Given the description of an element on the screen output the (x, y) to click on. 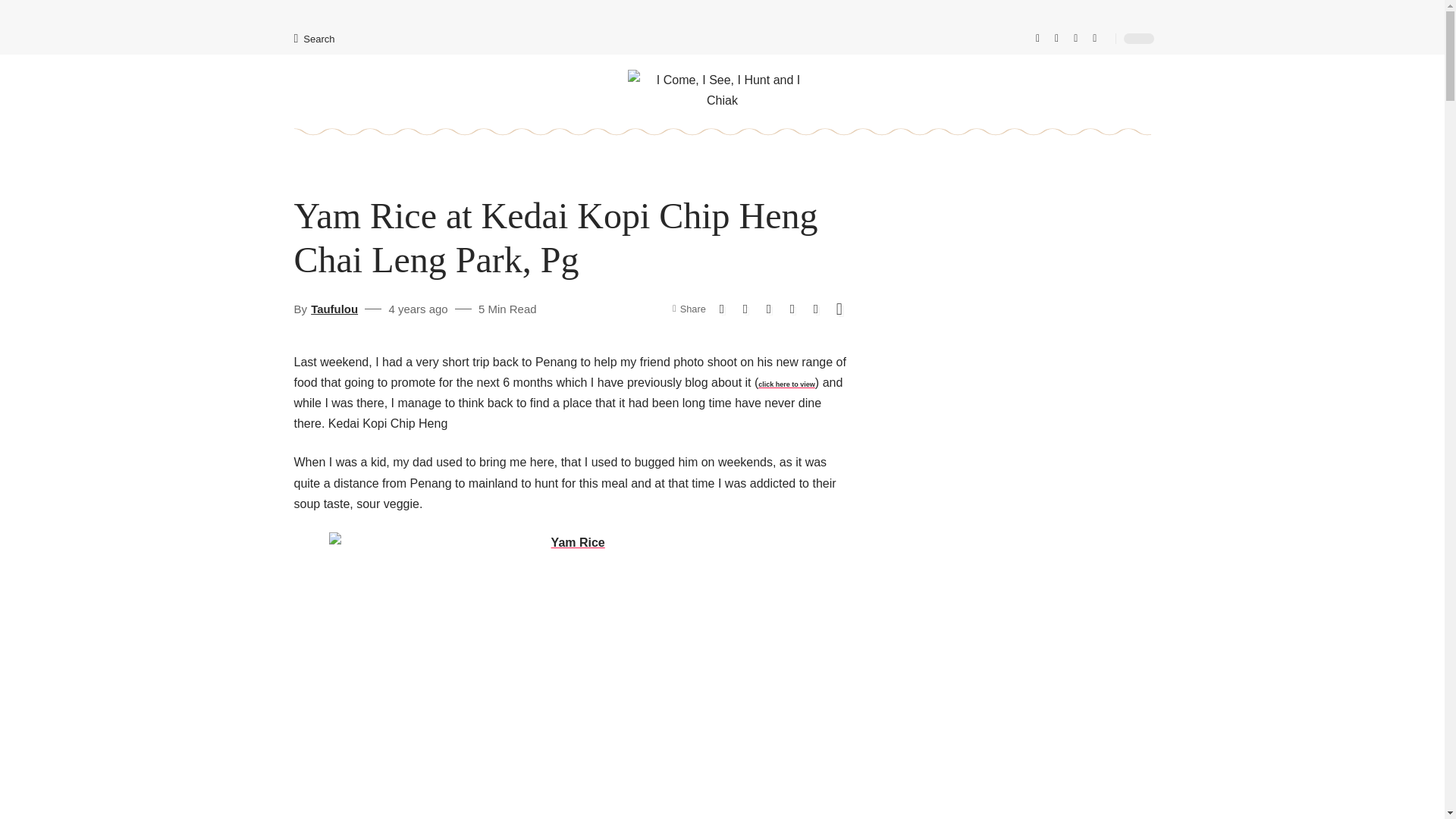
click here to view (786, 384)
Taufulou (334, 308)
Search (314, 38)
